Given the description of an element on the screen output the (x, y) to click on. 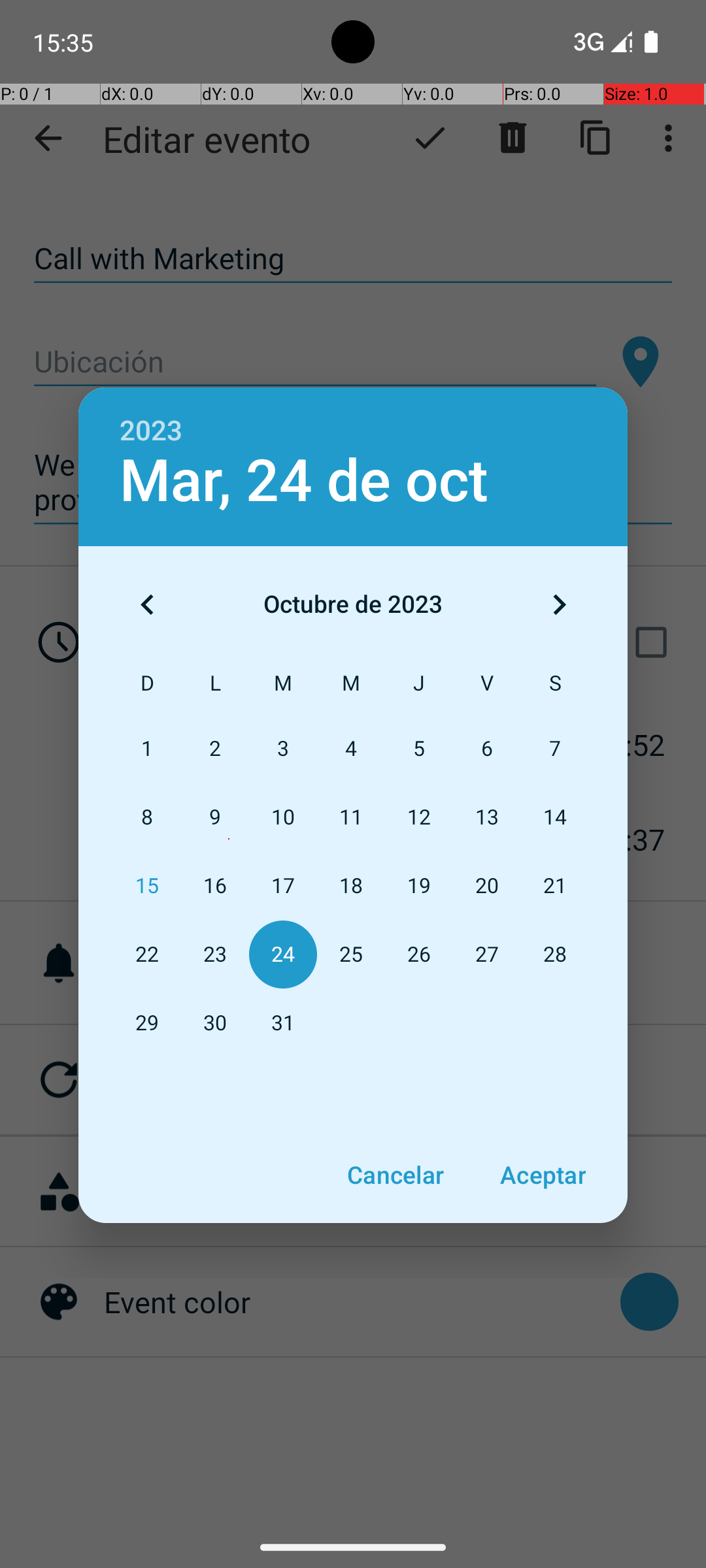
Mar, 24 de oct Element type: android.widget.TextView (303, 480)
Mes anterior Element type: android.widget.ImageButton (146, 604)
Mes siguiente Element type: android.widget.ImageButton (558, 604)
Cancelar Element type: android.widget.Button (394, 1174)
